Given the description of an element on the screen output the (x, y) to click on. 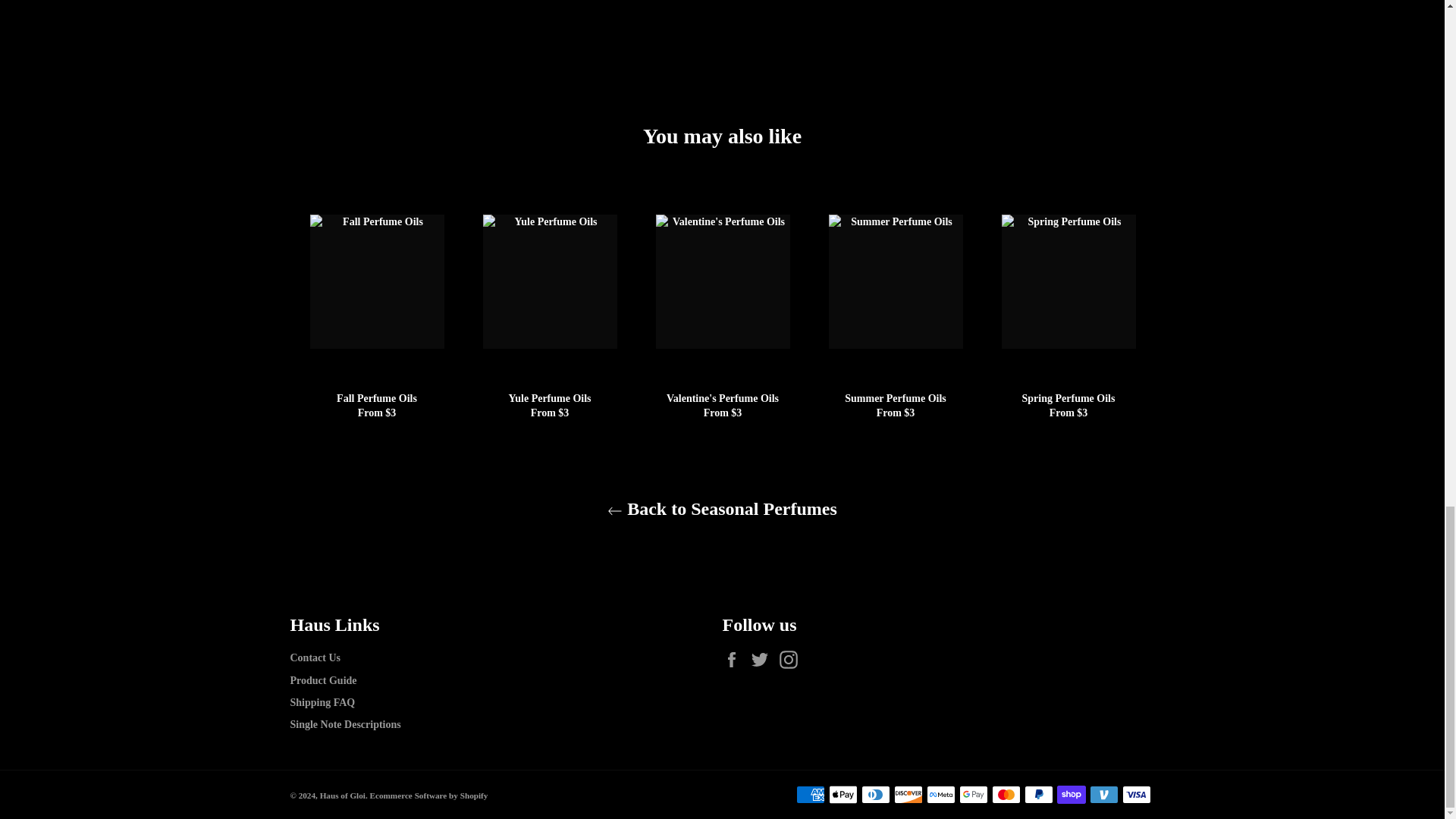
Haus of Gloi on Facebook (735, 659)
Haus of Gloi on Twitter (763, 659)
Haus of Gloi on Instagram (791, 659)
